Given the description of an element on the screen output the (x, y) to click on. 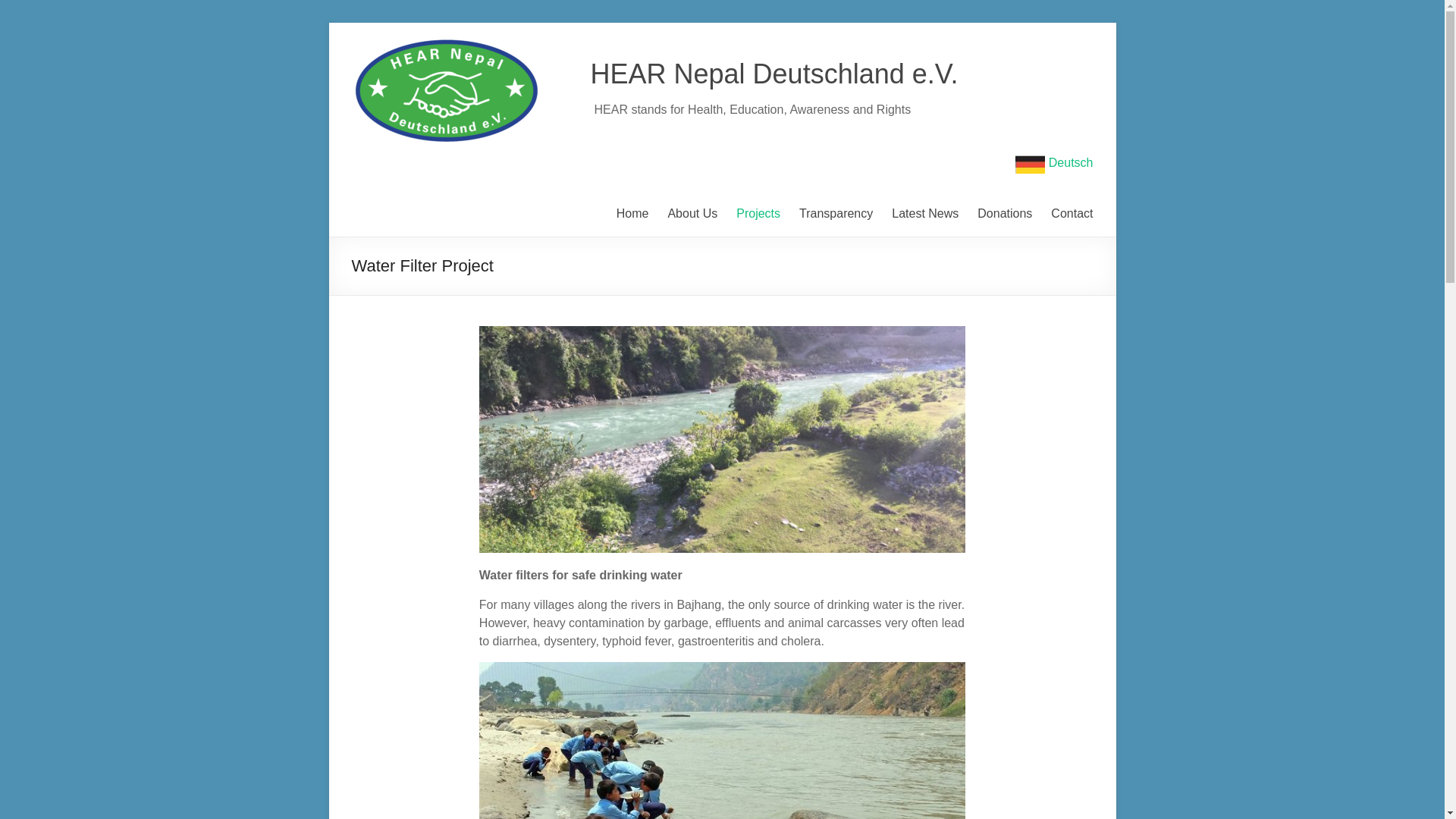
Transparency (835, 213)
Home (632, 213)
Water Filter Project (722, 438)
About Us (691, 213)
HEAR Nepal Deutschland e.V. (773, 73)
Latest News (924, 213)
HEAR Nepal Deutschland e.V. (773, 73)
Contact (1072, 213)
Projects (758, 213)
Donations (1004, 213)
Deutsch (1053, 162)
